Given the description of an element on the screen output the (x, y) to click on. 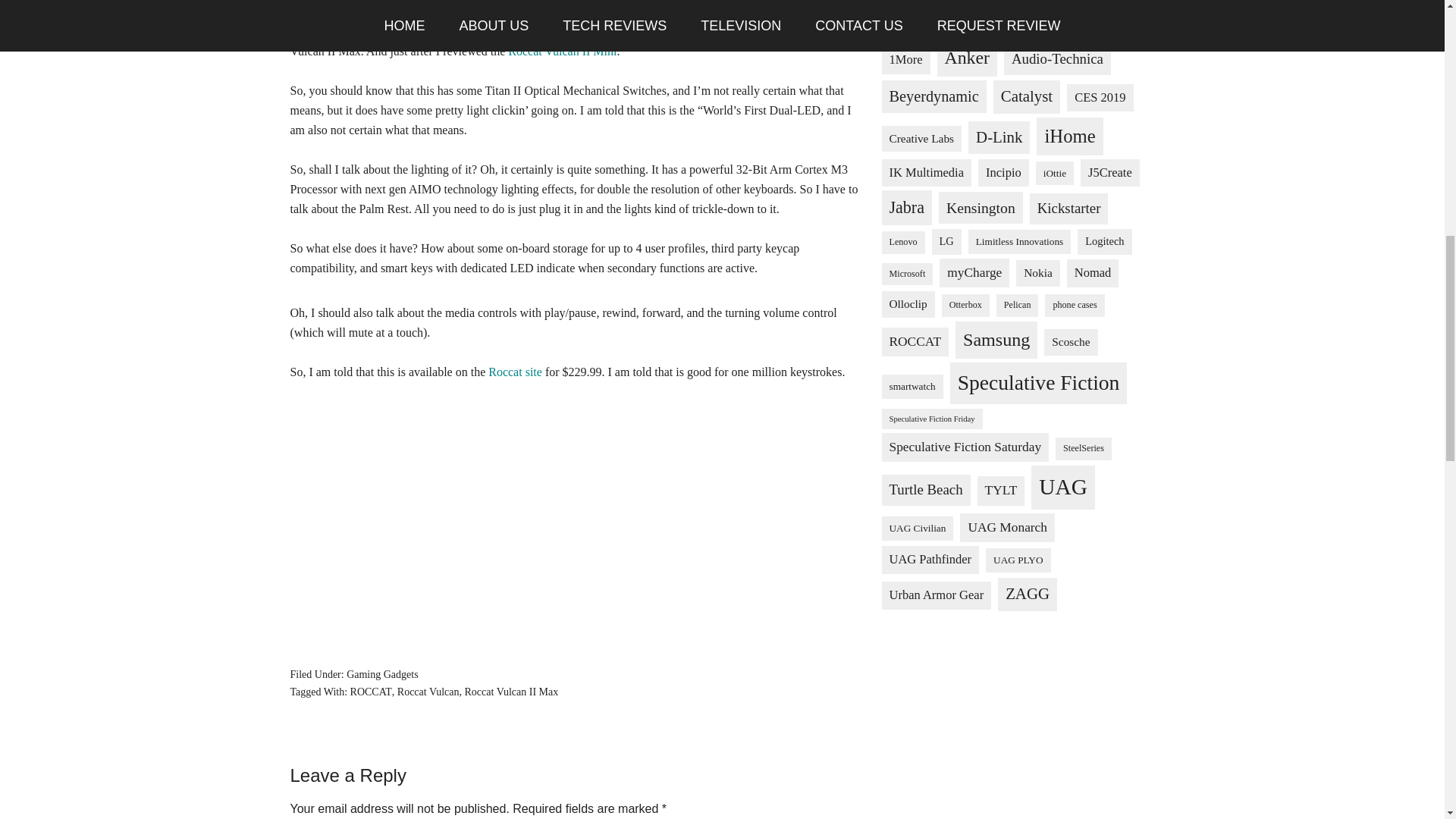
Gaming Gadgets (381, 674)
Roccat Syn Max Air (541, 31)
Roccat Vulcan (428, 691)
YouTube video player (574, 521)
Roccat Vulcan II Max (511, 691)
Roccat site (514, 371)
Roccat Vulcan II Mini (561, 51)
ROCCAT (370, 691)
